Given the description of an element on the screen output the (x, y) to click on. 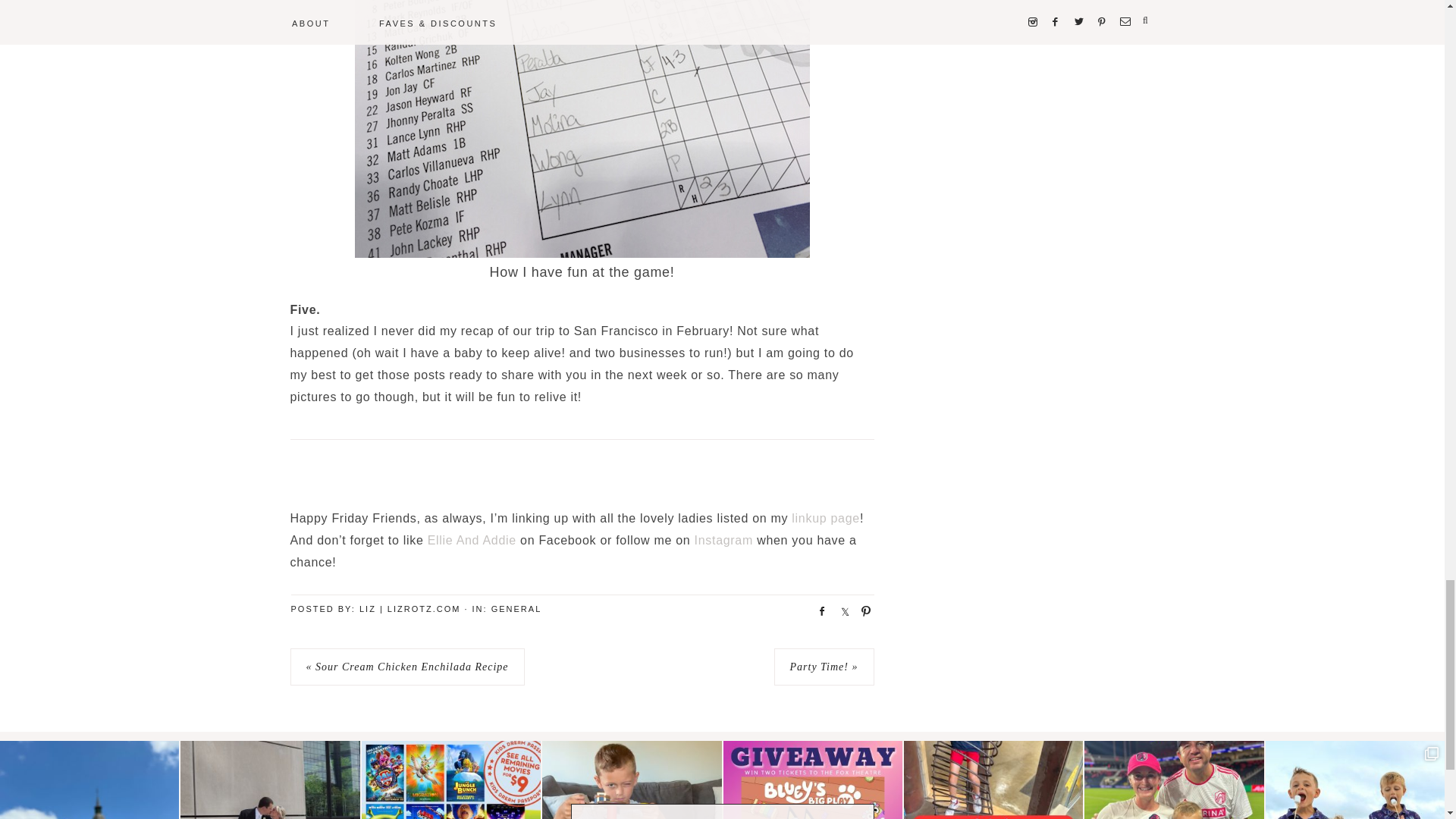
Link Ups (826, 517)
linkup page (826, 517)
Instagram (723, 540)
Ellie And Addie (472, 540)
